Given the description of an element on the screen output the (x, y) to click on. 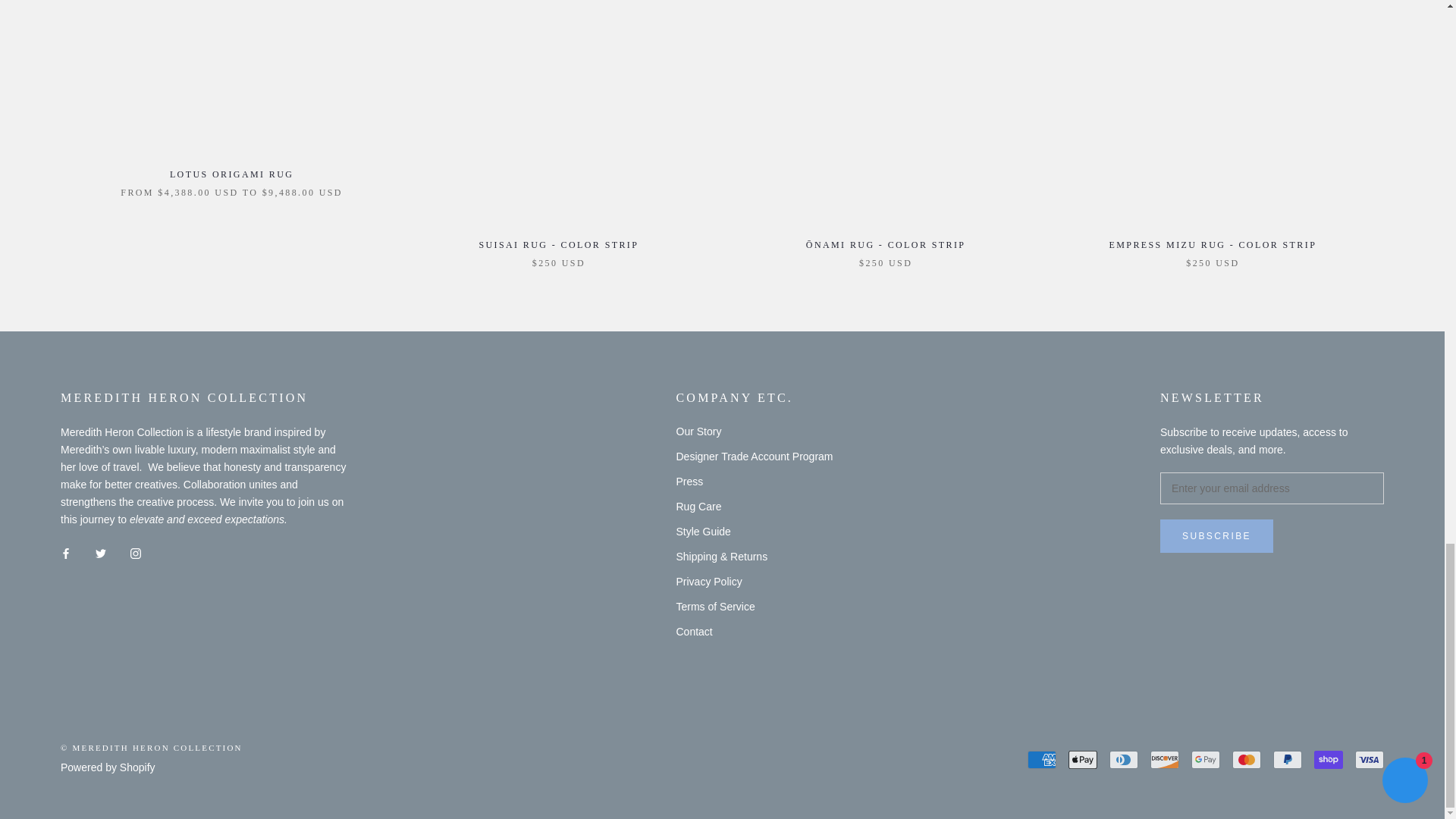
Google Pay (1205, 760)
Discover (1164, 760)
Shop Pay (1328, 760)
Apple Pay (1082, 760)
PayPal (1286, 760)
American Express (1042, 760)
Diners Club (1123, 760)
Visa (1369, 760)
Mastercard (1245, 760)
